Given the description of an element on the screen output the (x, y) to click on. 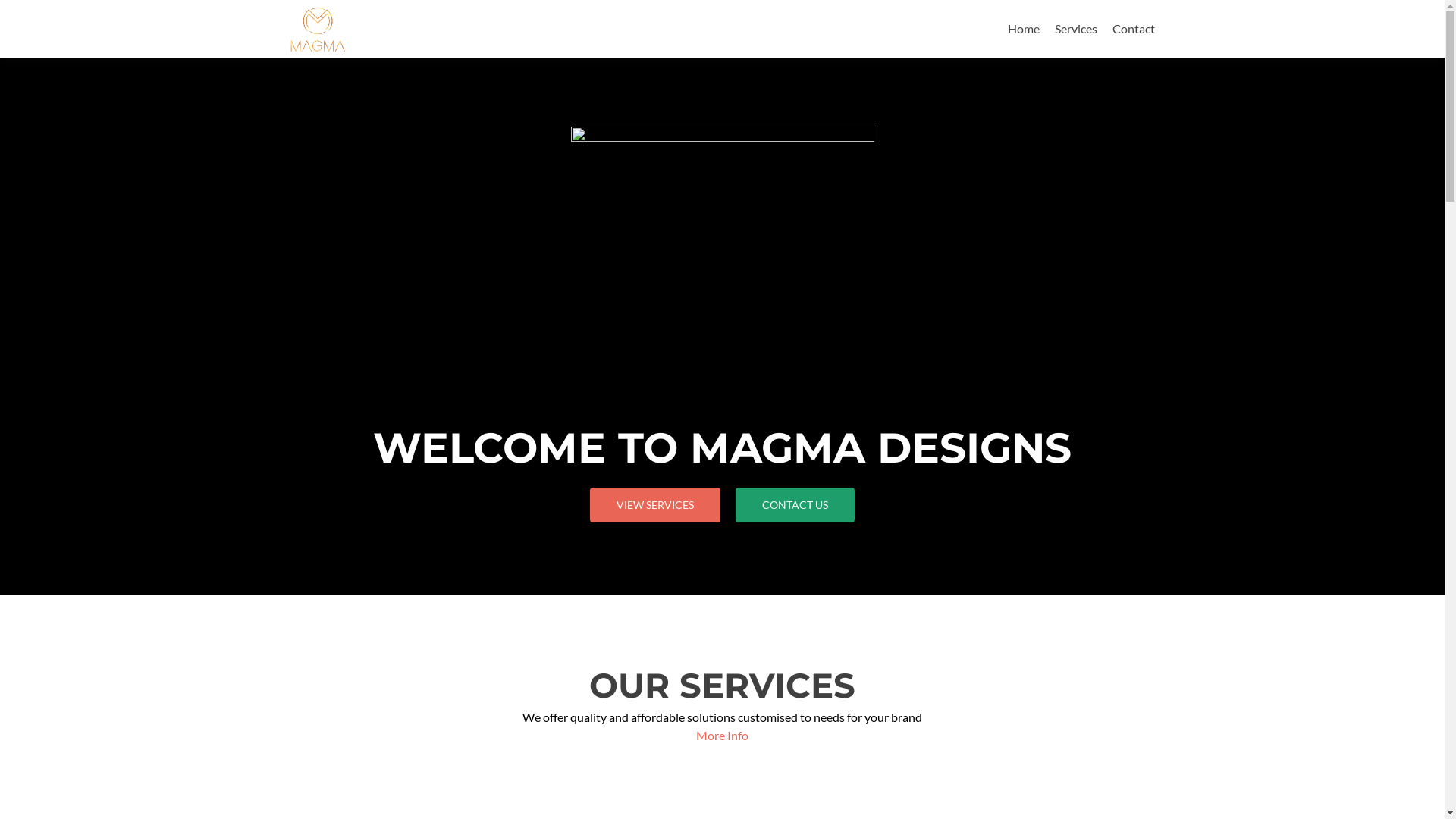
Contact Element type: text (1132, 28)
Services Element type: text (1075, 28)
Home Element type: text (1022, 28)
VIEW SERVICES Element type: text (654, 504)
CONTACT US Element type: text (794, 504)
More Info Element type: text (722, 735)
Skip to content Element type: text (1046, 9)
